Given the description of an element on the screen output the (x, y) to click on. 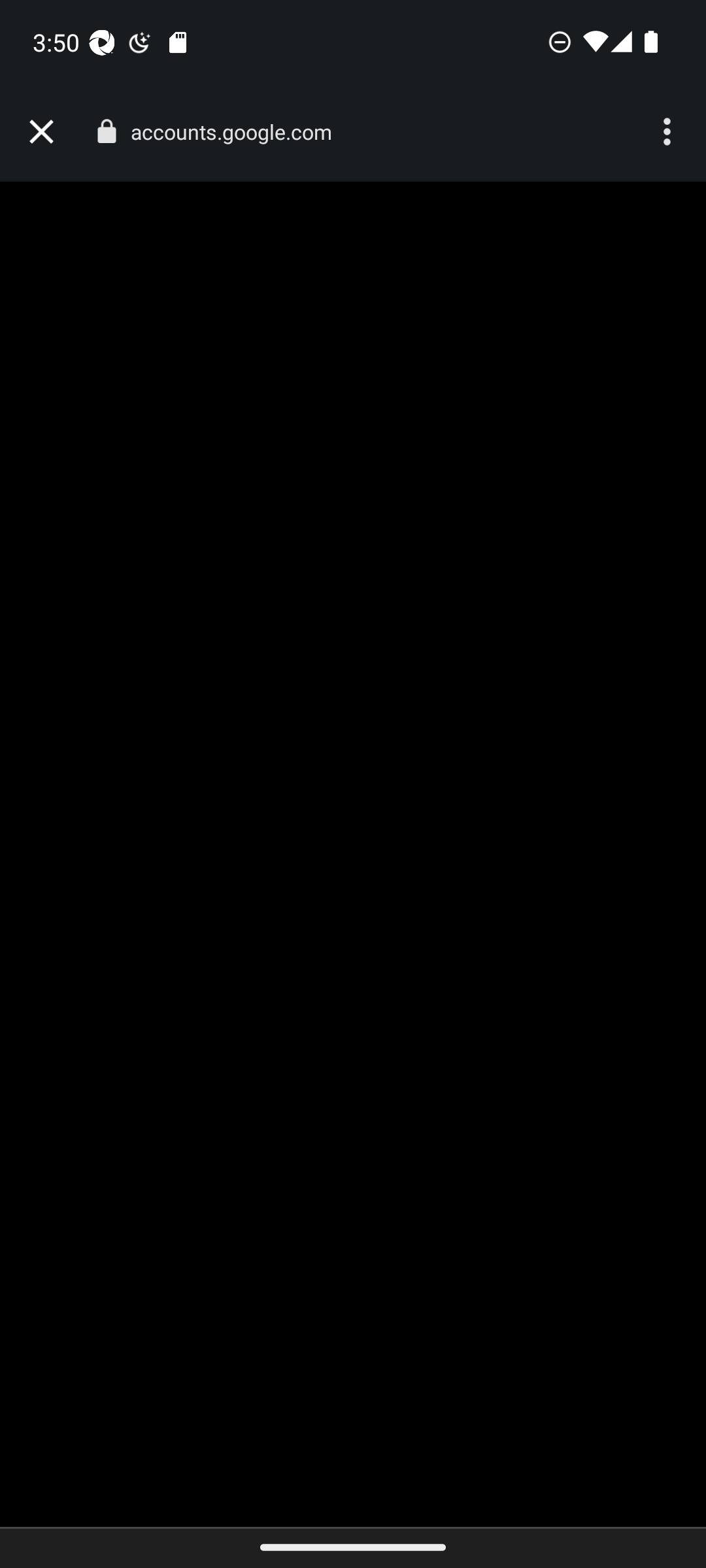
Close tab (41, 131)
More options (669, 131)
Connection is secure (106, 131)
accounts.google.com (237, 131)
